Given the description of an element on the screen output the (x, y) to click on. 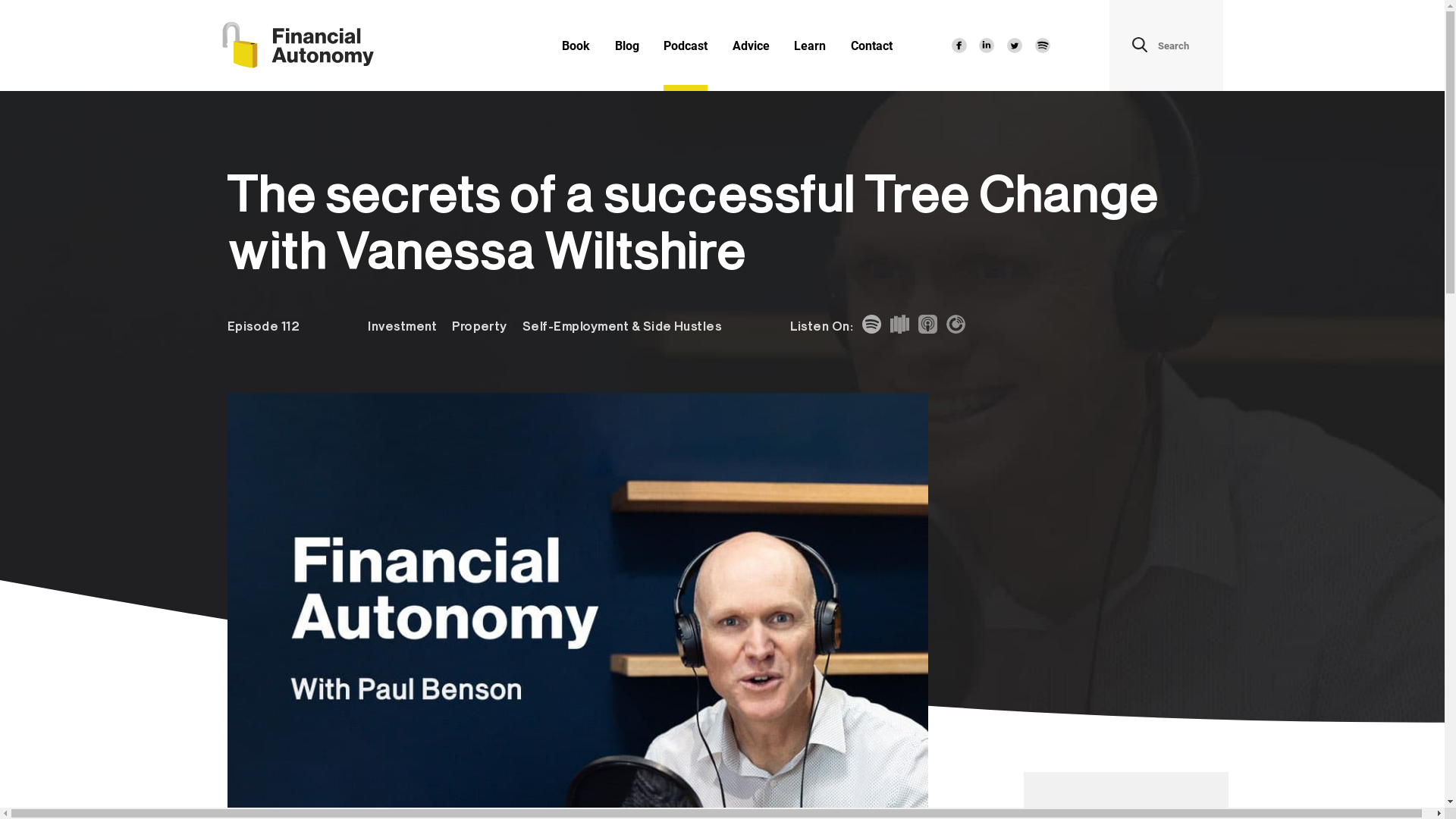
Podcast Element type: text (685, 45)
Self-Employment & Side Hustles Element type: text (621, 326)
Blog Element type: text (627, 45)
Contact Element type: text (871, 45)
Book Element type: text (575, 45)
Investment Element type: text (401, 326)
Property Element type: text (479, 326)
Advice Element type: text (750, 45)
Learn Element type: text (809, 45)
